Given the description of an element on the screen output the (x, y) to click on. 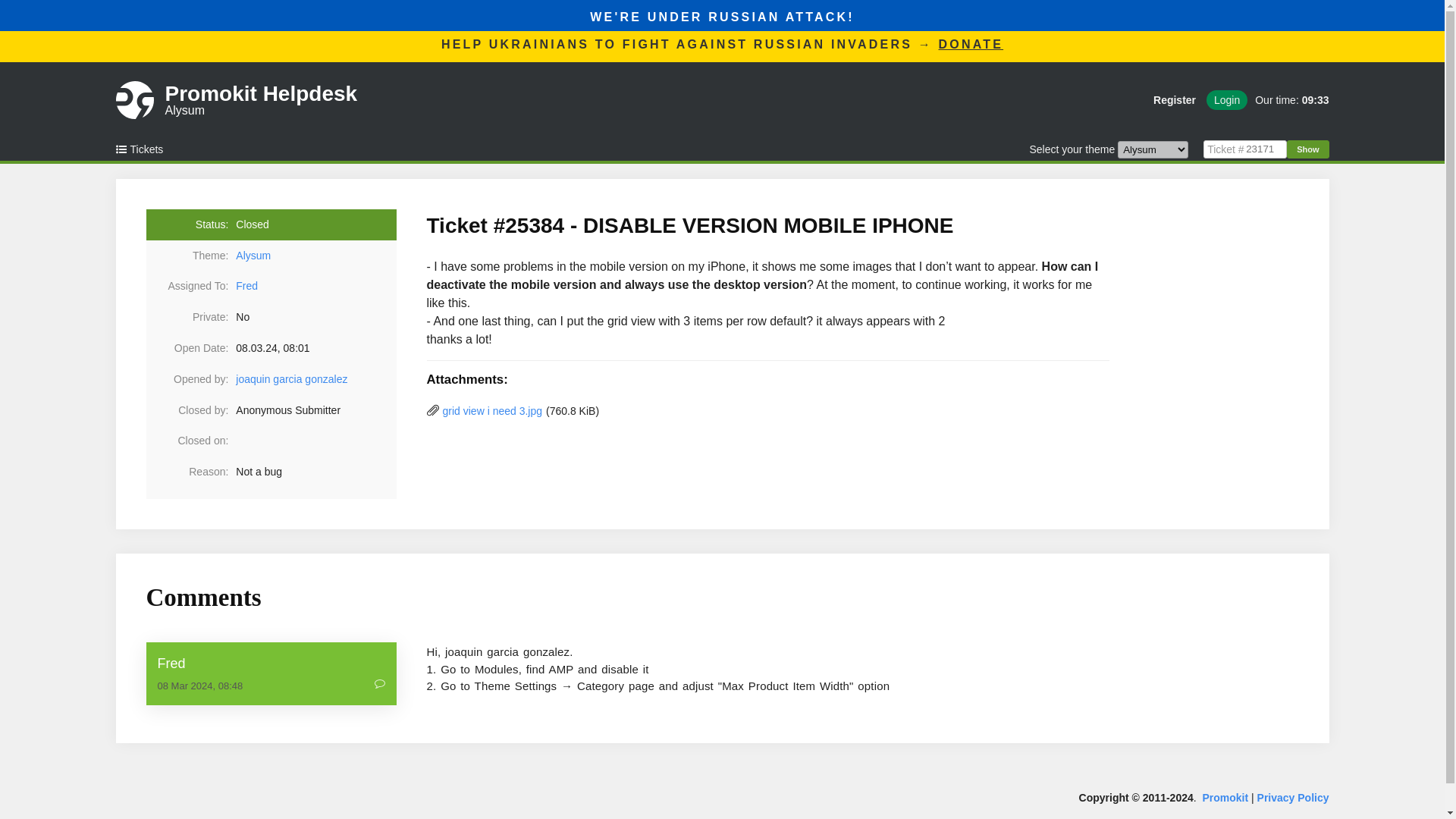
grid view i need  3.jpg (492, 410)
Login (1227, 99)
fred (261, 100)
Our time: 09:33 (246, 285)
joaquin garcia gonzalez (1287, 99)
pegasus6464 (291, 378)
Promokit (291, 378)
Register (1224, 797)
grid view i need 3.jpg (1174, 99)
Comment Link (492, 410)
DONATE (379, 685)
Alysum (971, 43)
Fred (315, 255)
08 Mar 2024, 08:01 (271, 663)
